Given the description of an element on the screen output the (x, y) to click on. 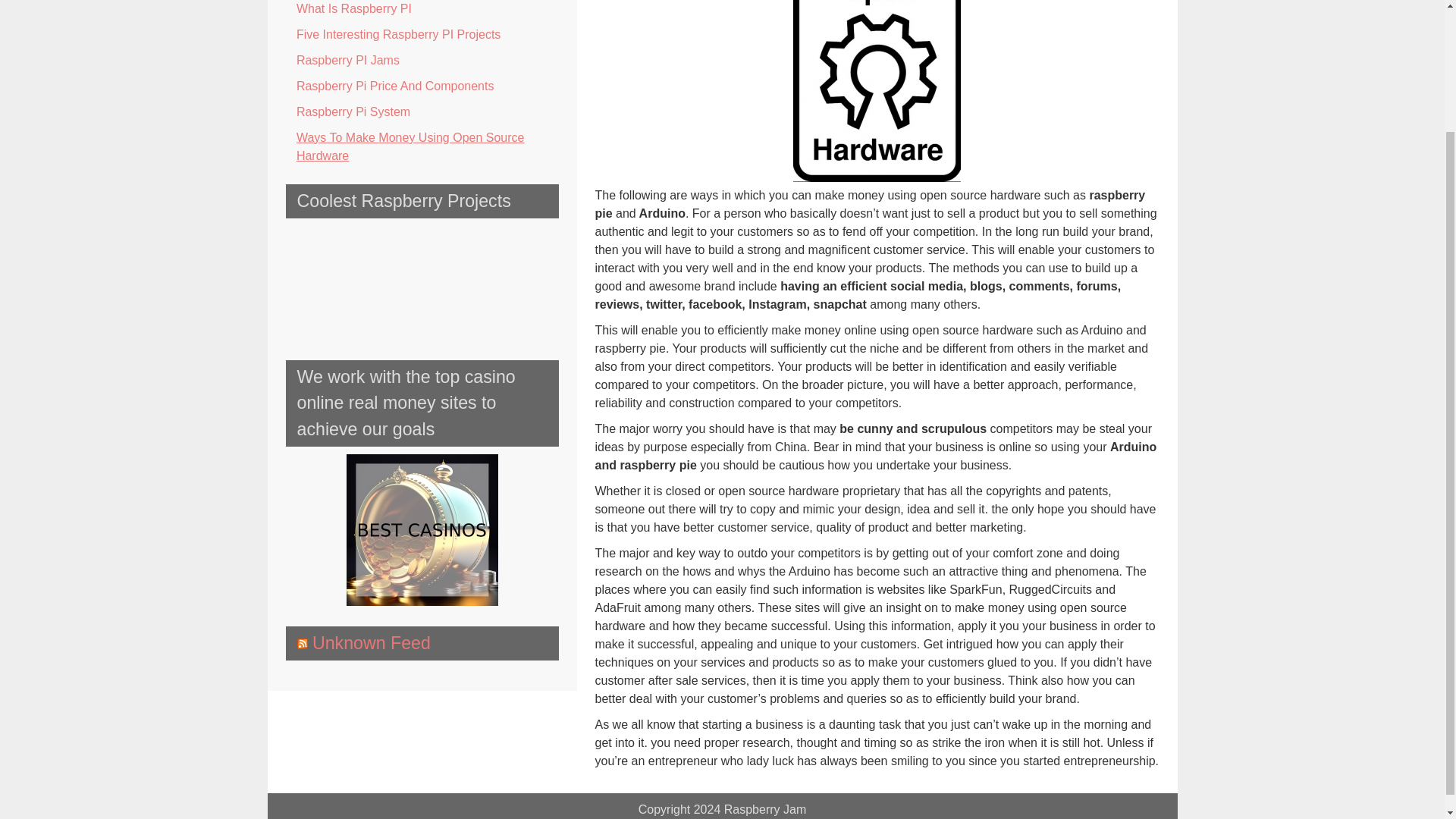
Raspberry Jam (764, 809)
Unknown Feed (371, 642)
What Is Raspberry PI (421, 11)
Raspberry Jam (764, 809)
Raspberry Pi System (421, 112)
Raspberry PI Jams (421, 60)
Ways To Make Money Using Open Source Hardware (421, 146)
Five Interesting Raspberry PI Projects (421, 34)
Raspberry Pi Price And Components (421, 86)
